Given the description of an element on the screen output the (x, y) to click on. 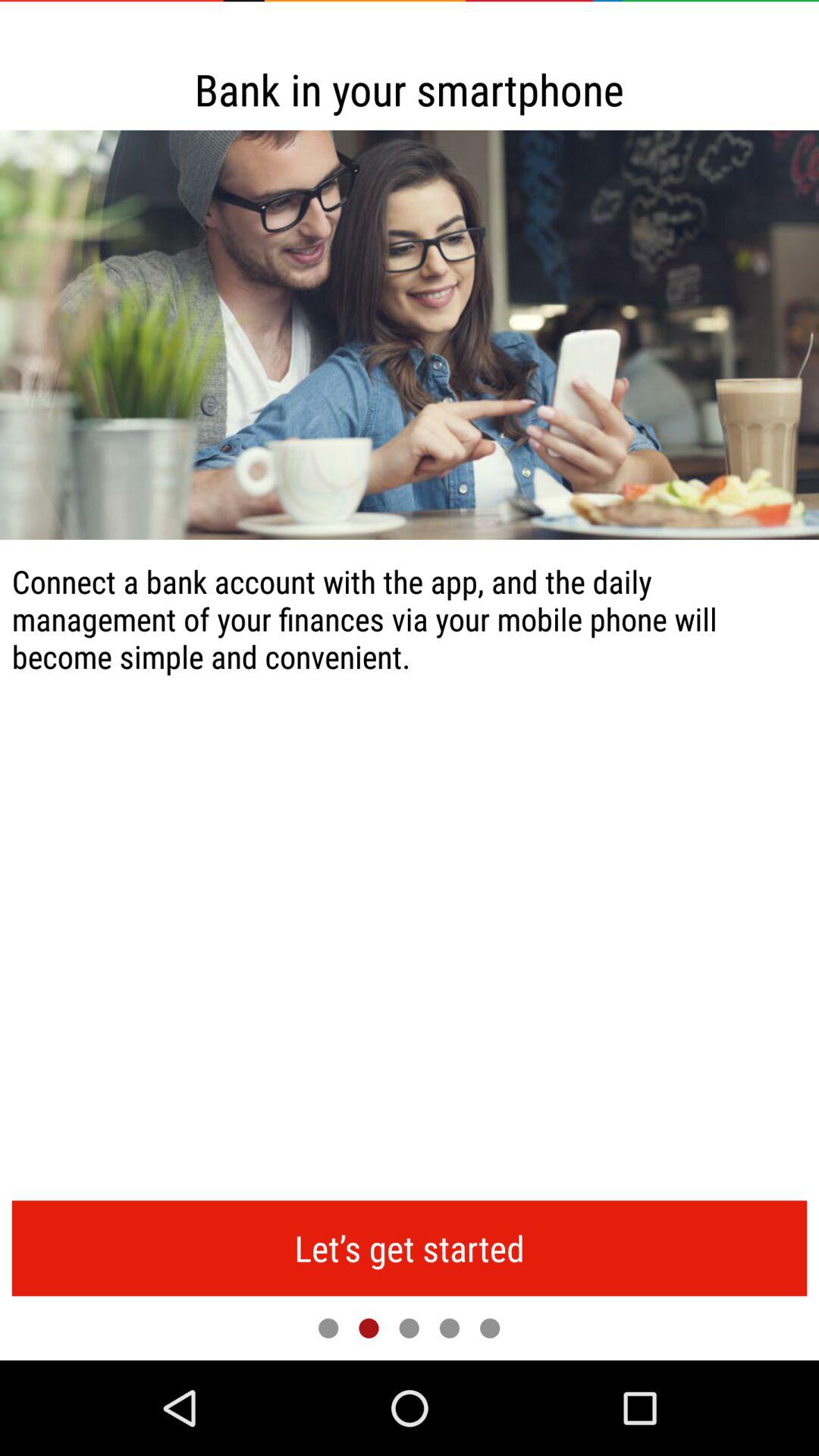
go to last page of slideshow (489, 1328)
